Given the description of an element on the screen output the (x, y) to click on. 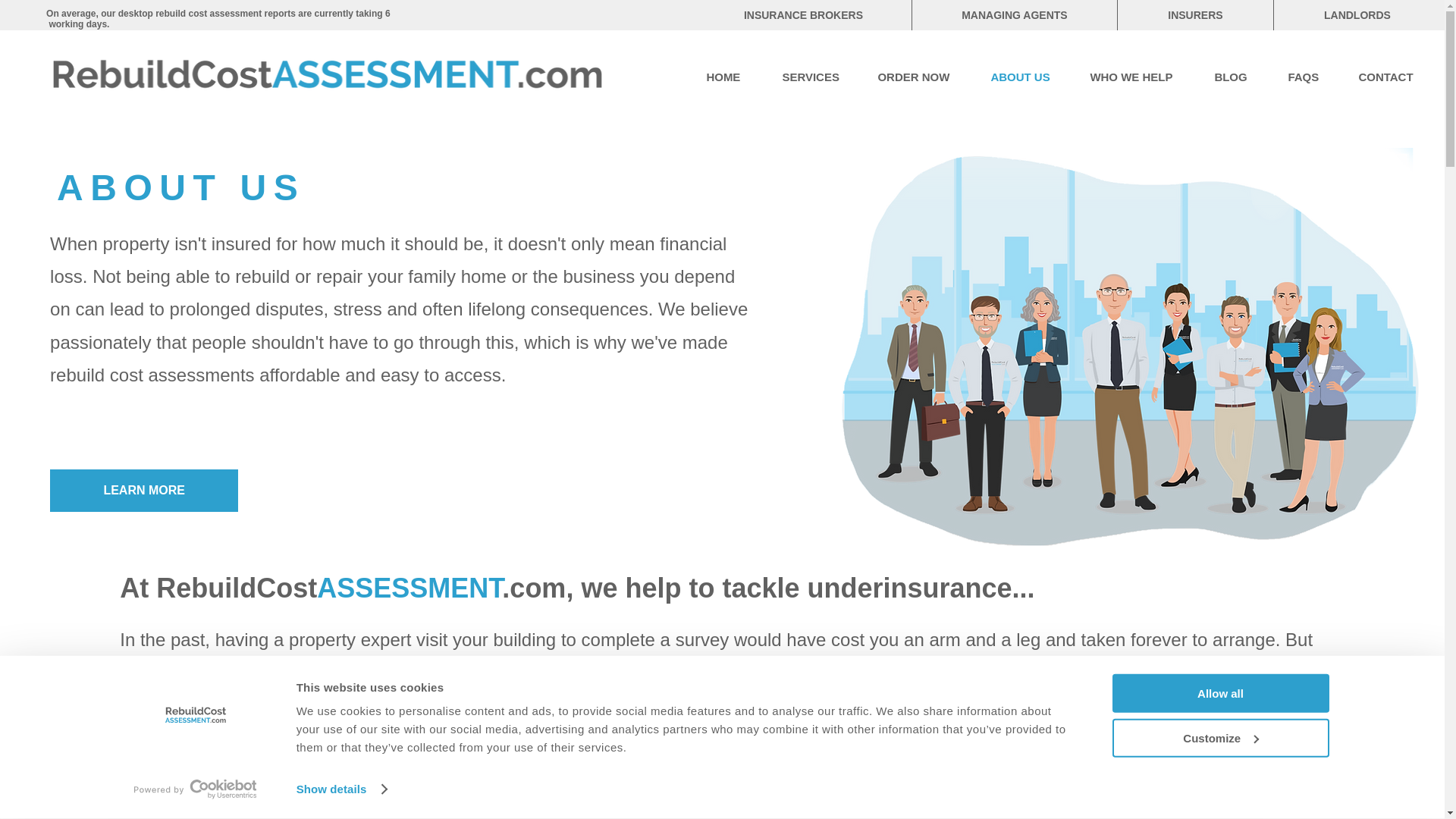
Show details (341, 789)
